Given the description of an element on the screen output the (x, y) to click on. 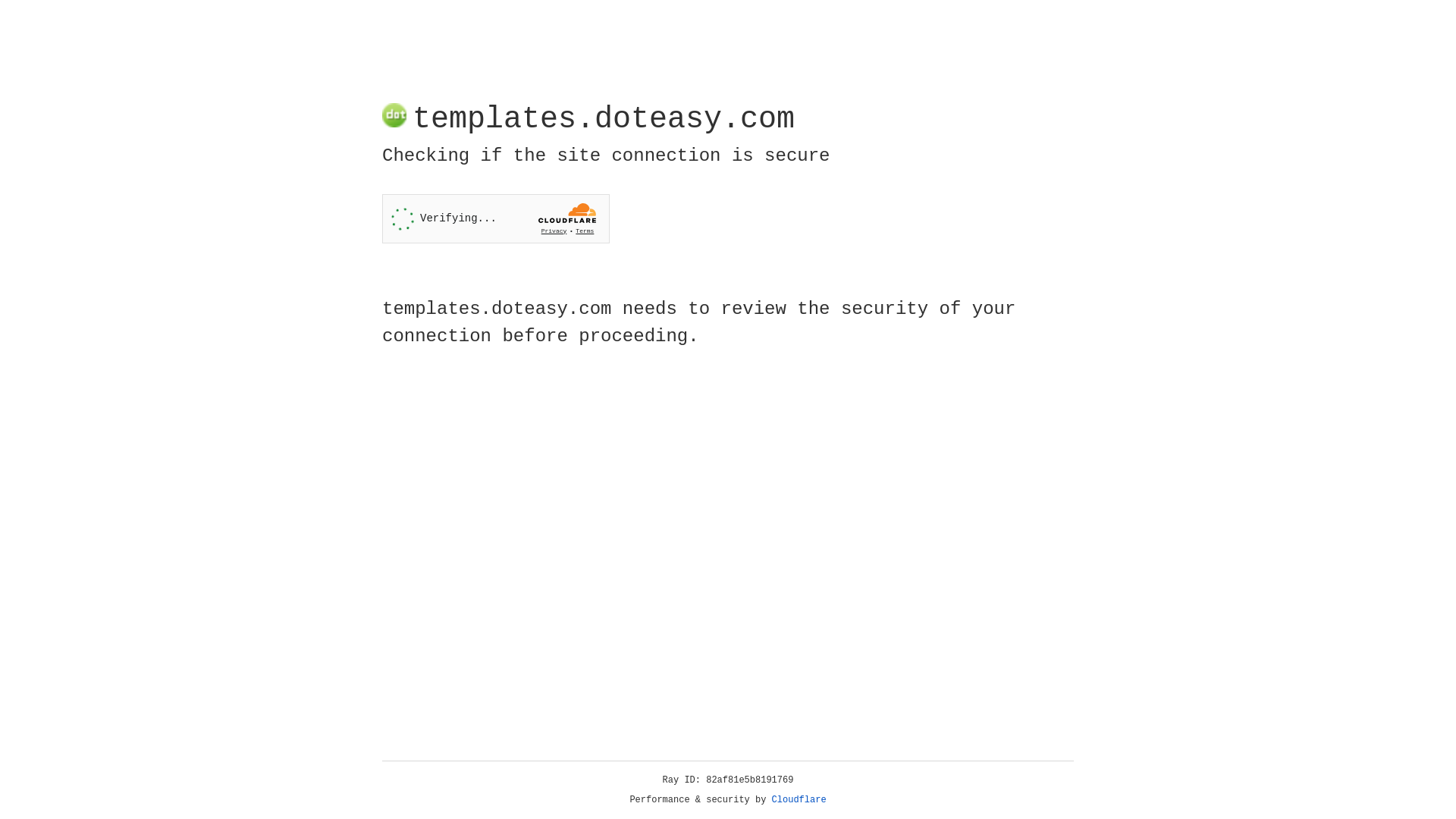
Widget containing a Cloudflare security challenge Element type: hover (495, 218)
Cloudflare Element type: text (798, 799)
